Given the description of an element on the screen output the (x, y) to click on. 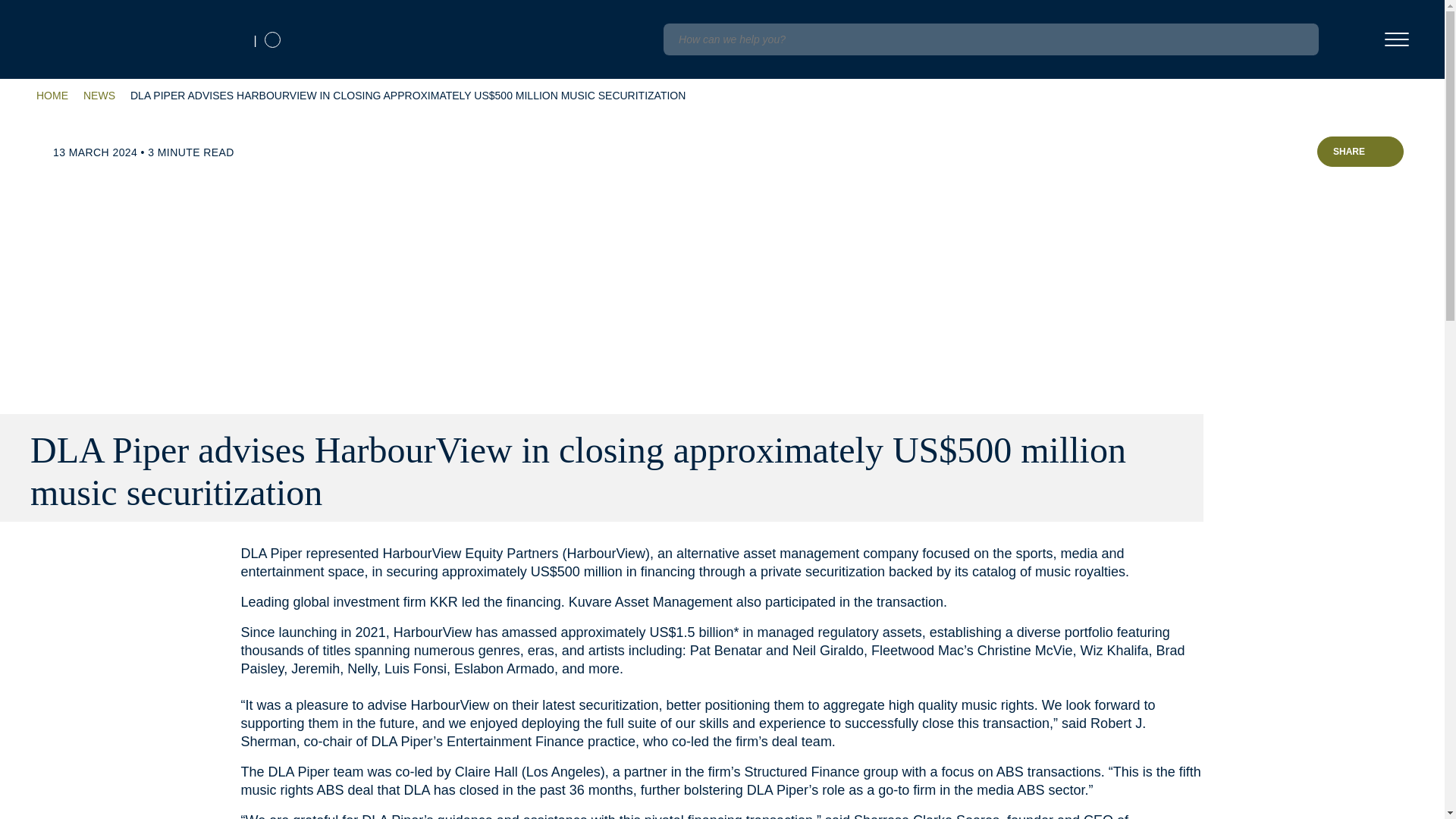
Insert a query. Press enter to send (990, 39)
NEWS (98, 95)
HOME (52, 95)
